Given the description of an element on the screen output the (x, y) to click on. 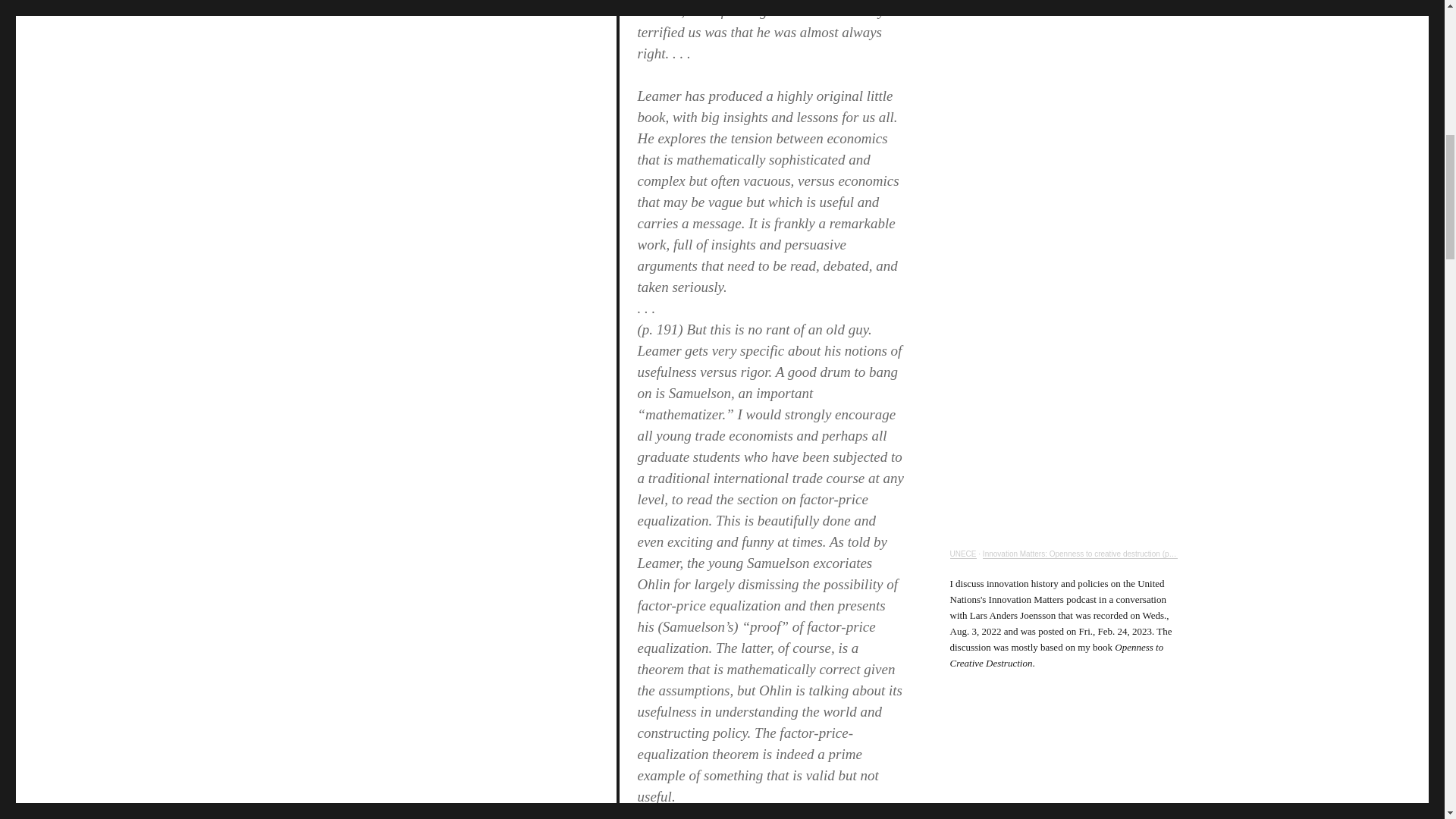
UNECE (962, 553)
UNECE (962, 553)
Embed Player (1062, 769)
